Given the description of an element on the screen output the (x, y) to click on. 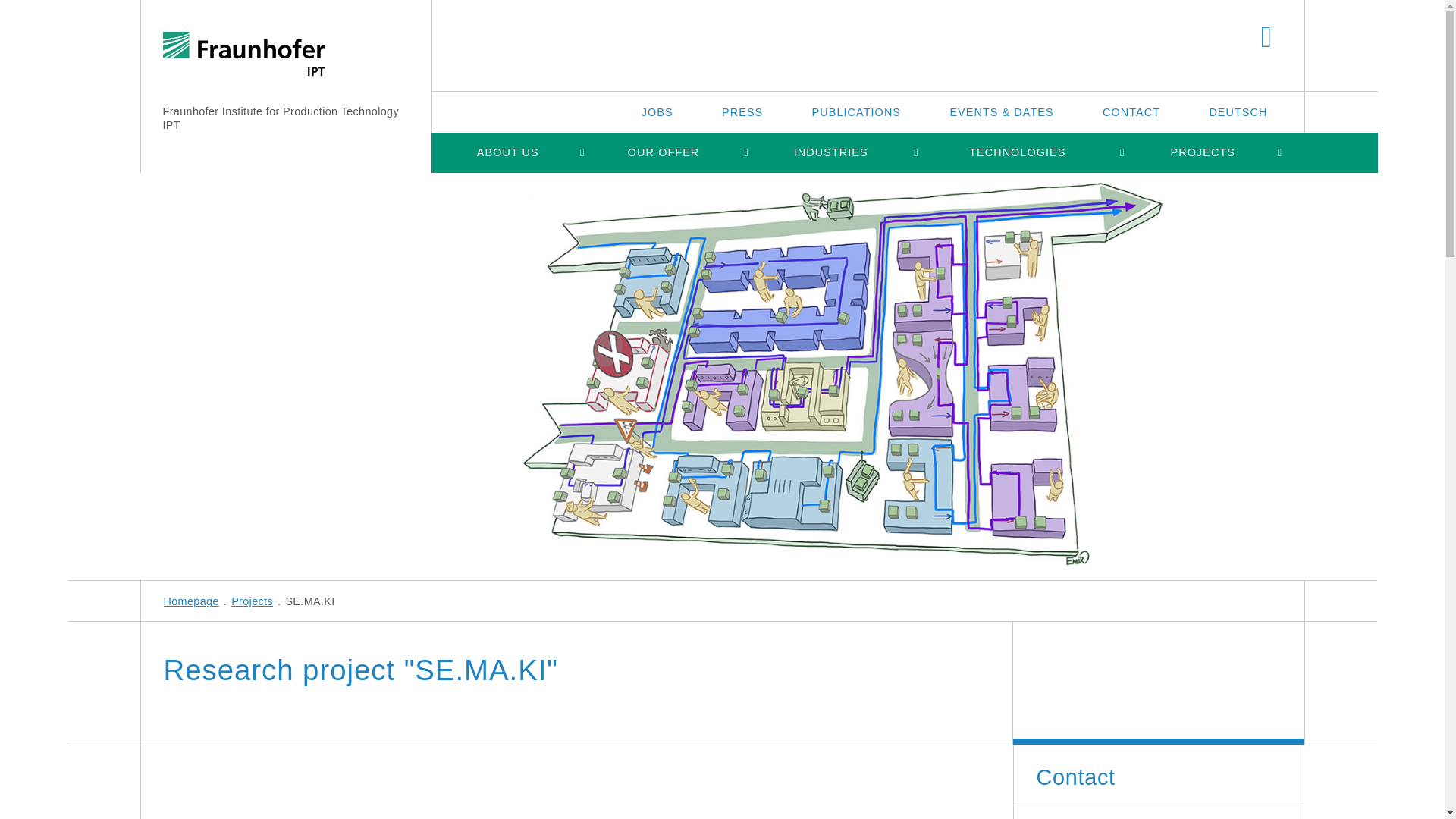
CONTACT (1131, 111)
DEUTSCH (1238, 111)
Fraunhofer Institute for Production Technology IPT (279, 118)
JOBS (656, 111)
SEARCH (1266, 37)
ABOUT US (507, 151)
PUBLICATIONS (856, 111)
PRESS (742, 111)
OUR OFFER (662, 151)
